Given the description of an element on the screen output the (x, y) to click on. 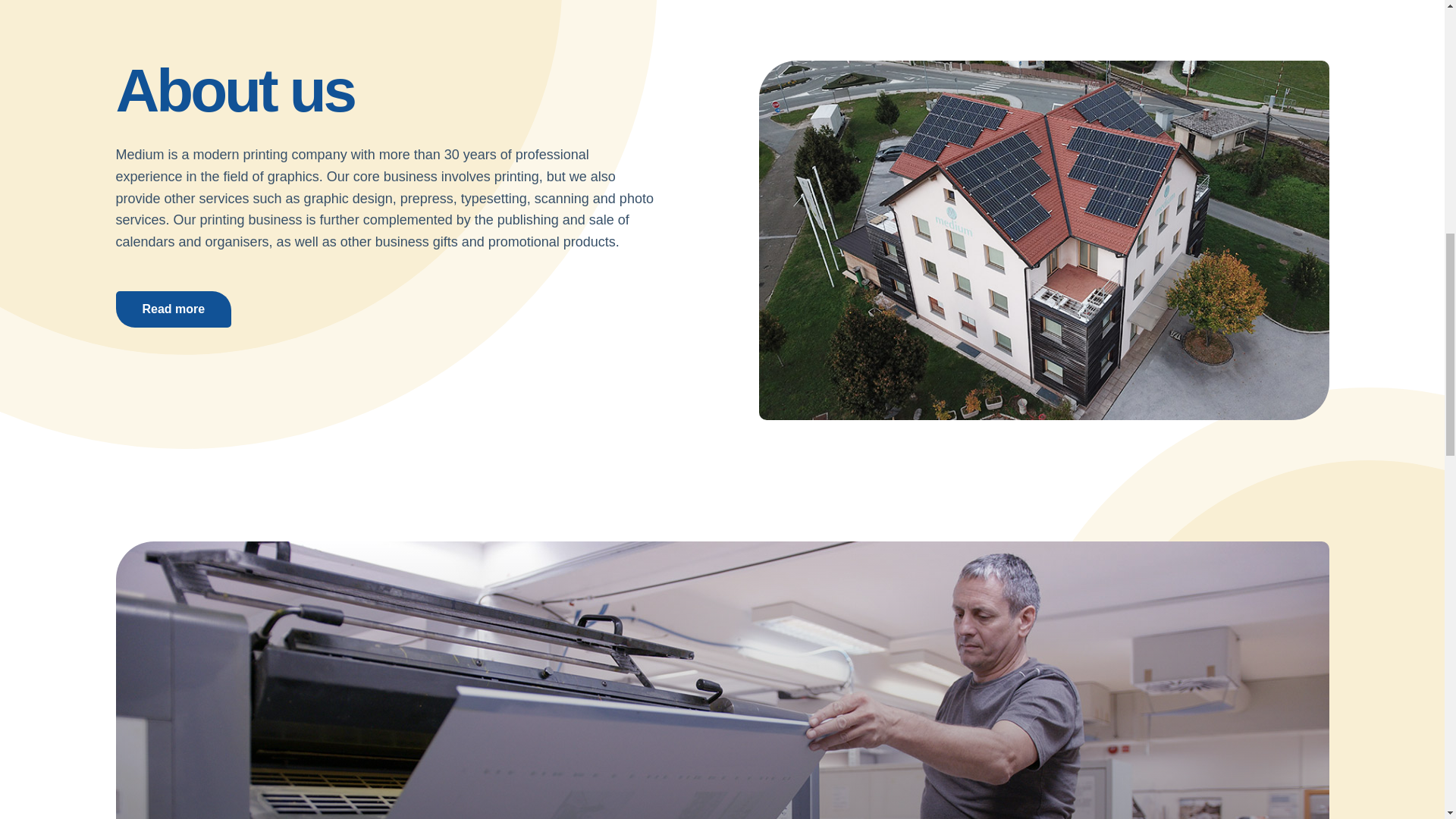
Read more (173, 309)
